Given the description of an element on the screen output the (x, y) to click on. 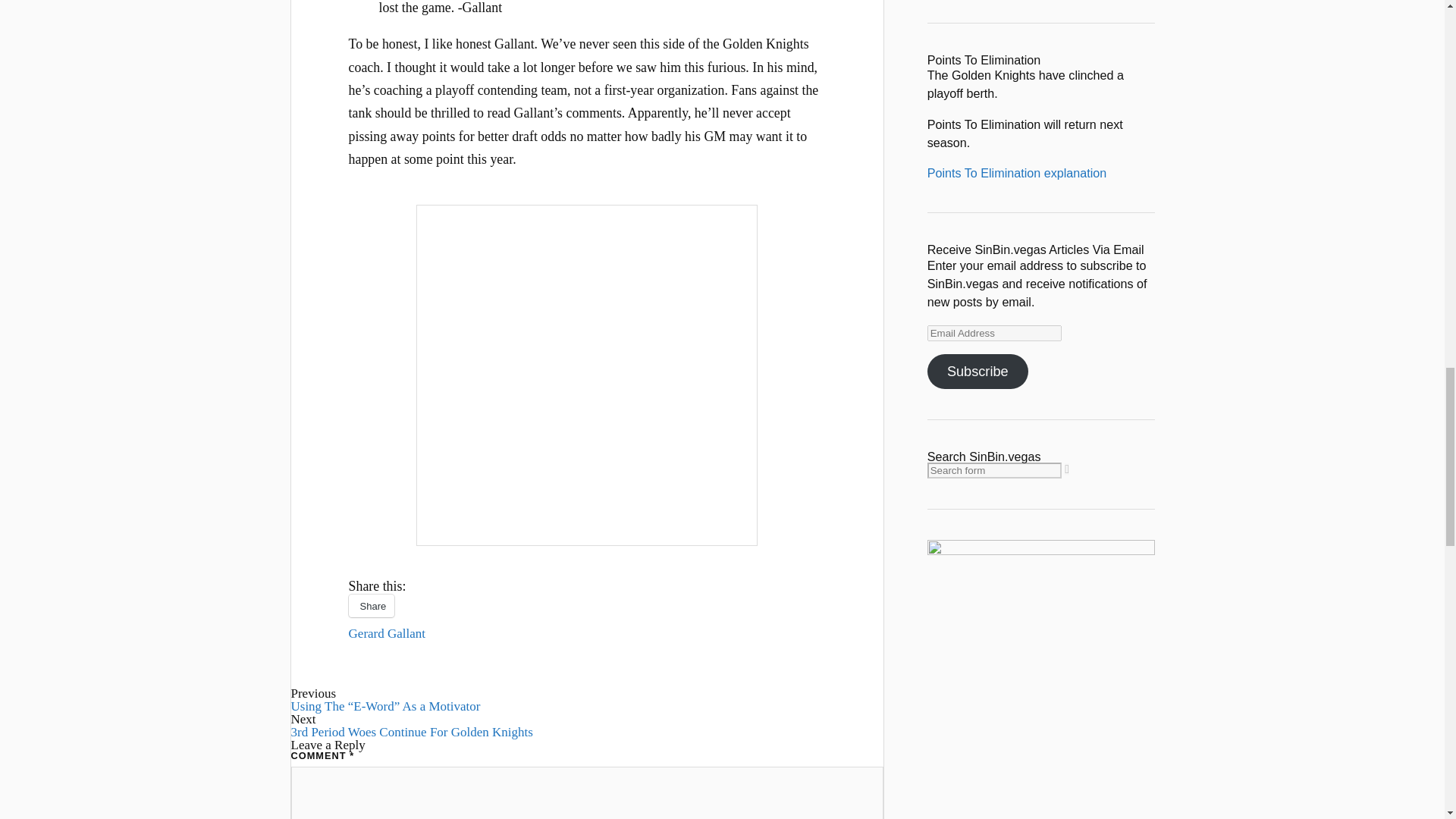
3rd Period Woes Continue For Golden Knights (411, 731)
Gerard Gallant (387, 633)
Next post: 3rd Period Woes Continue For Golden Knights (411, 731)
Share (371, 605)
